Given the description of an element on the screen output the (x, y) to click on. 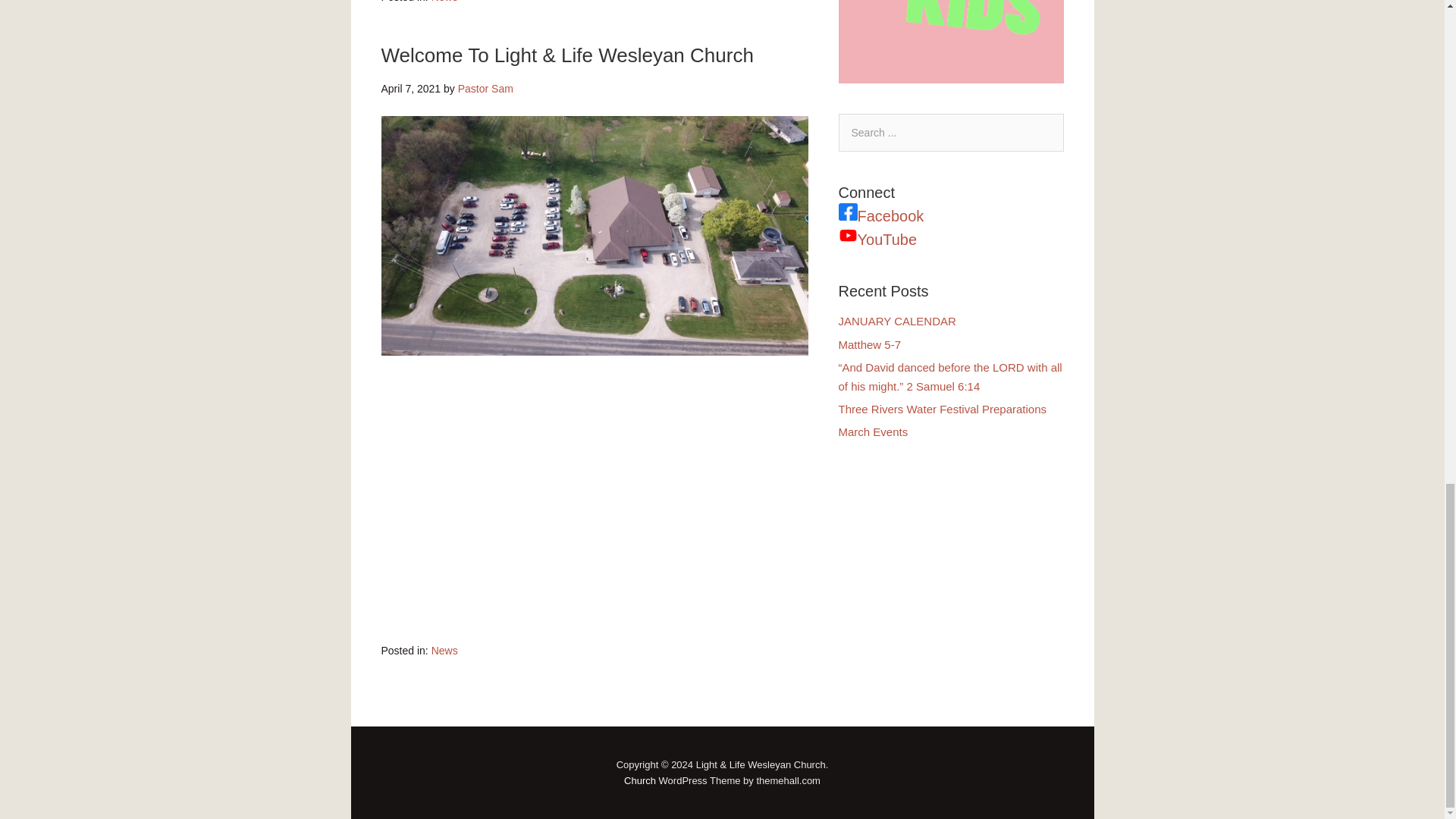
Posts by Pastor Sam (485, 88)
Church (640, 780)
Wednesday, April 7, 2021, 10:09 am (410, 88)
Three Rivers Water Festival Preparations (942, 408)
March Events (873, 431)
Pastor Sam (485, 88)
News (444, 1)
Facebook (890, 215)
Church WordPress Theme (640, 780)
Search for: (951, 132)
Matthew 5-7 (869, 344)
YouTube (887, 239)
JANUARY CALENDAR (897, 320)
